Given the description of an element on the screen output the (x, y) to click on. 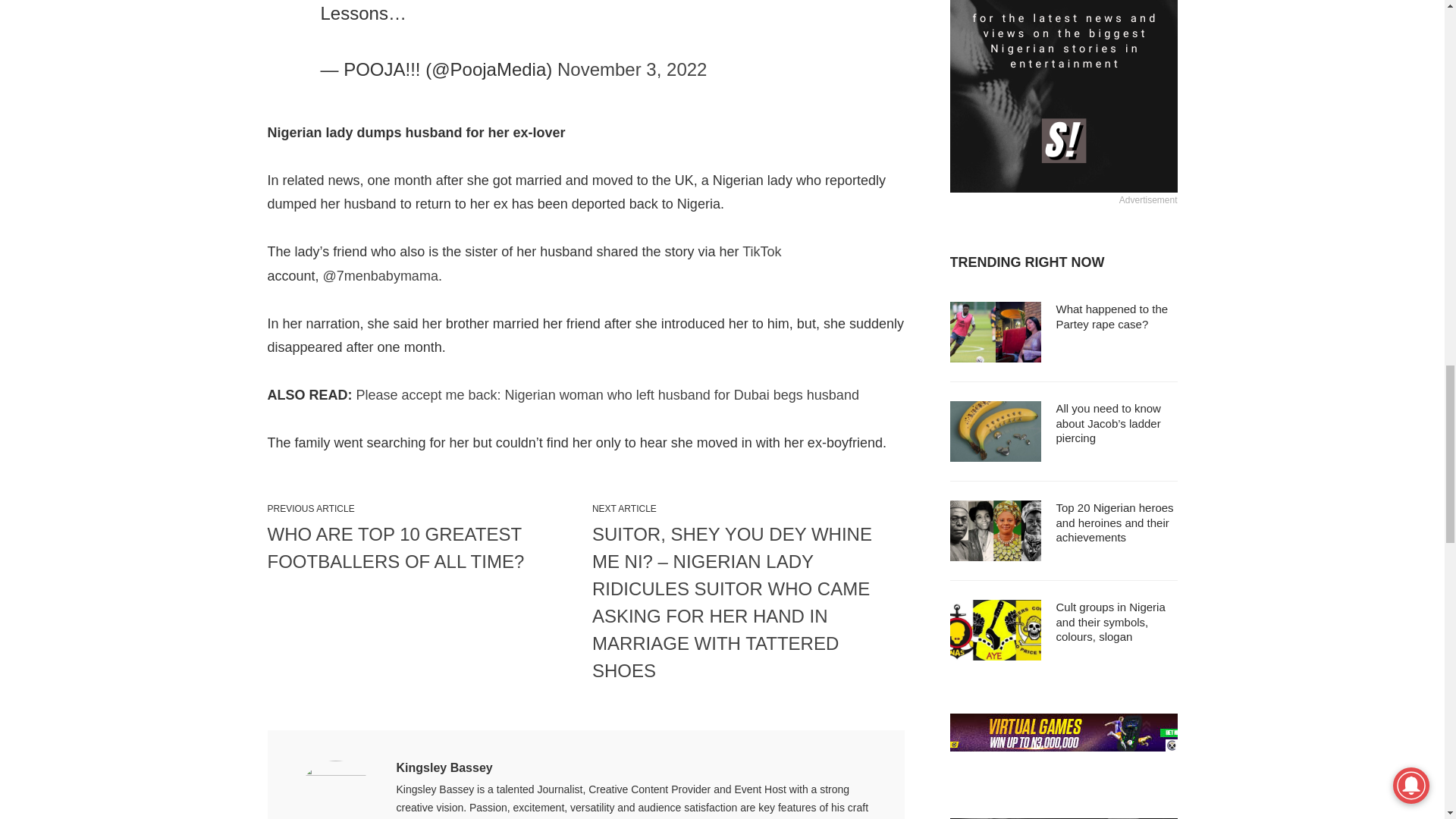
View all posts by Kingsley Bassey (444, 767)
